Given the description of an element on the screen output the (x, y) to click on. 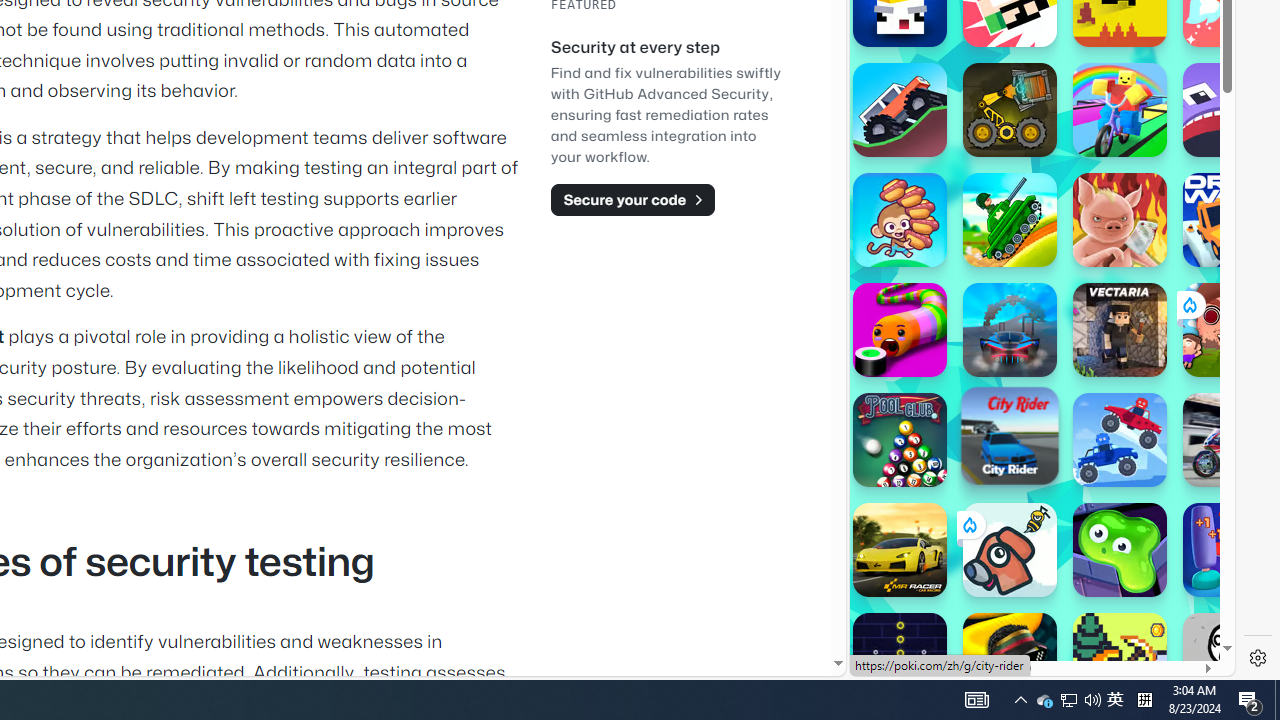
Monster Tracks (899, 109)
Gobble (1229, 109)
Combat Reloaded (1090, 290)
Super Bike the Champion (1229, 439)
Iron Snout (1119, 219)
Save Dogogo Save Dogogo (1009, 549)
Super Tunnel Rush (1009, 329)
Super Tunnel Rush Super Tunnel Rush (1009, 329)
Combat Reloaded (1092, 200)
Class: rCs5cyEiqiTpYvt_VBCR (968, 525)
City Rider (1009, 435)
MR RACER - Car Racing MR RACER - Car Racing (899, 549)
Punch Legend Simulator (1229, 549)
Gobble Gobble (1229, 109)
Sushi Party Sushi Party (899, 329)
